Given the description of an element on the screen output the (x, y) to click on. 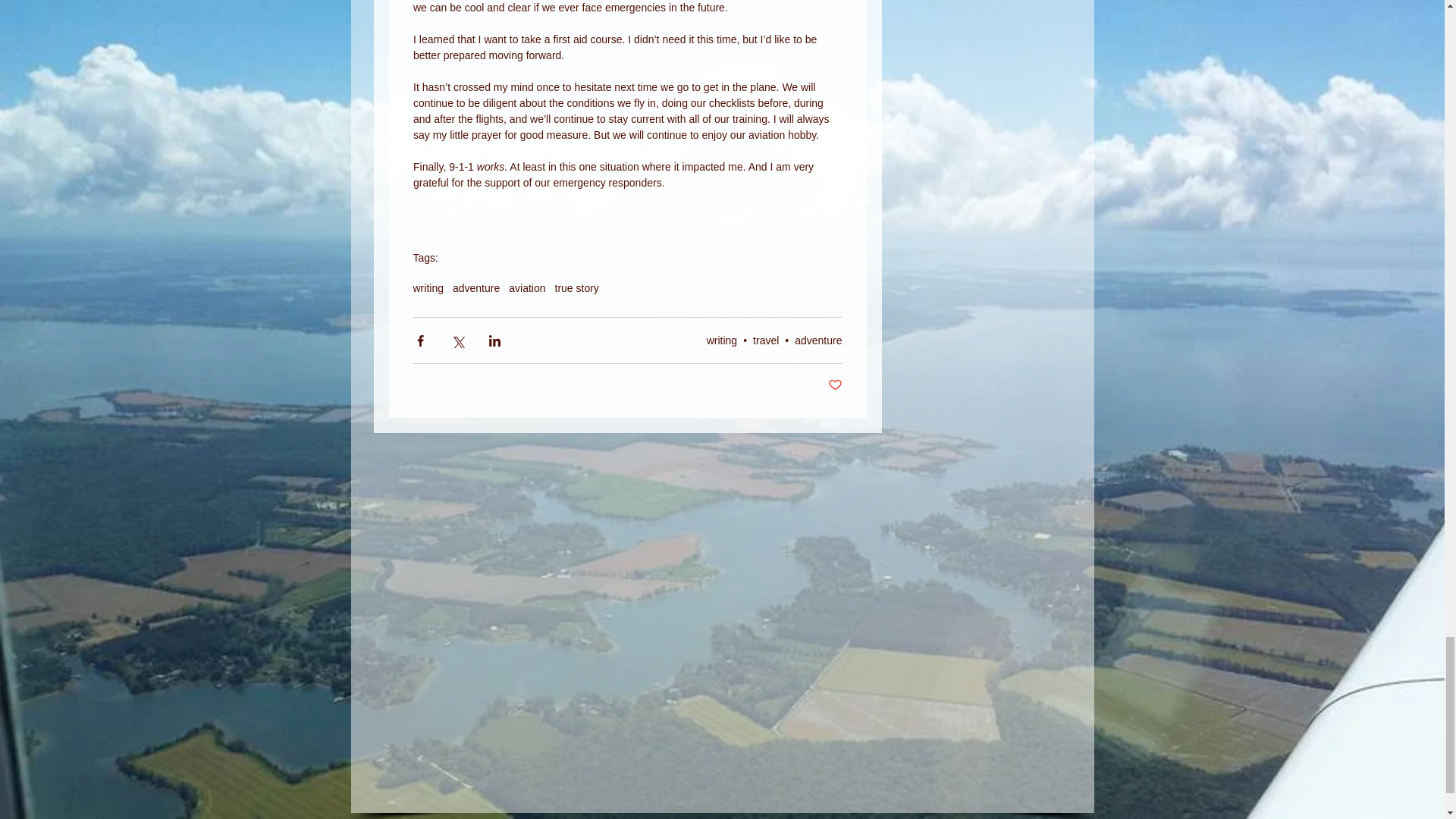
writing (427, 287)
writing (721, 340)
adventure (817, 340)
travel (765, 340)
true story (576, 287)
aviation (526, 287)
adventure (475, 287)
Post not marked as liked (835, 385)
